Given the description of an element on the screen output the (x, y) to click on. 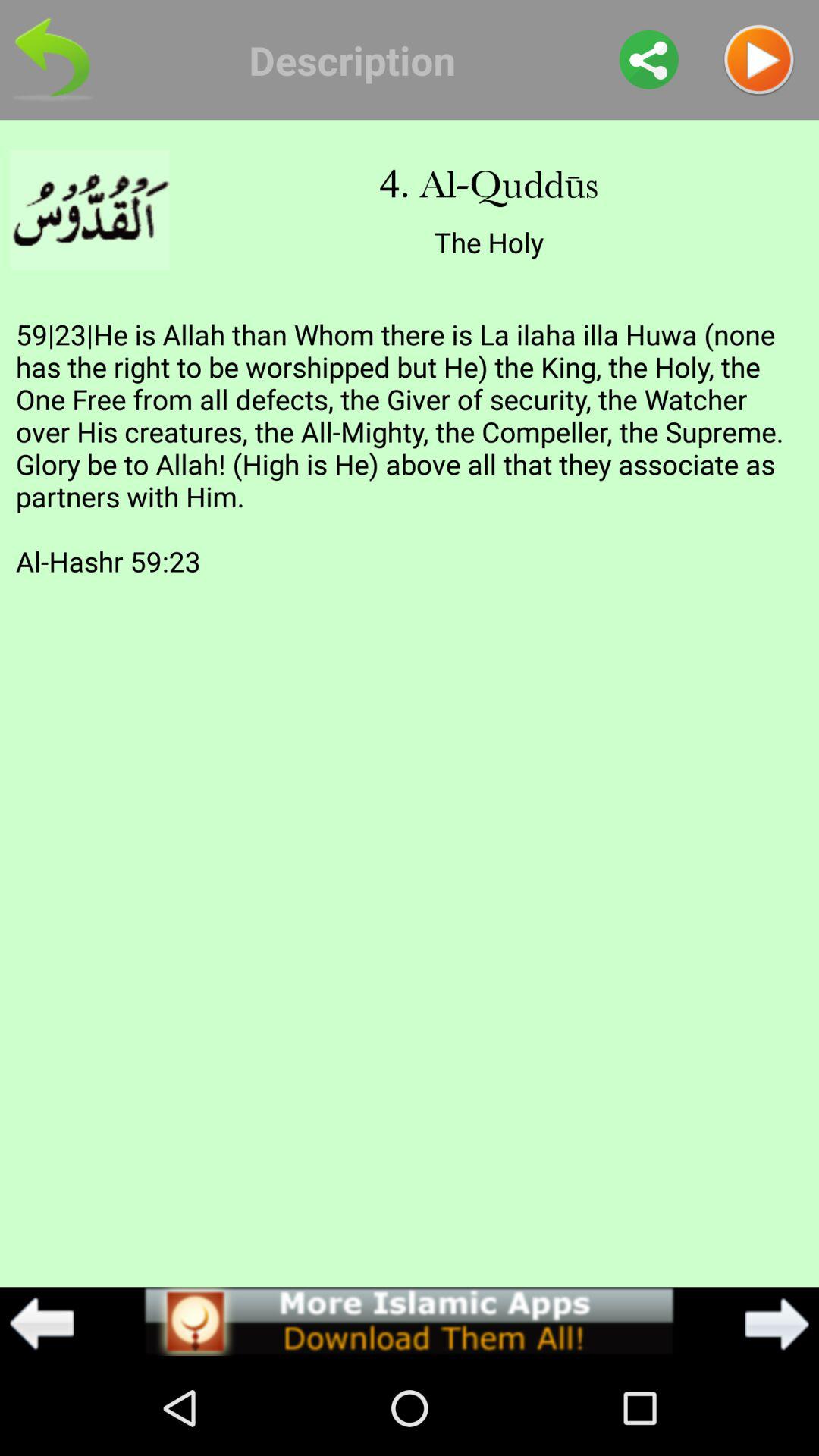
turn on the icon below the 59 23 he (408, 1321)
